Given the description of an element on the screen output the (x, y) to click on. 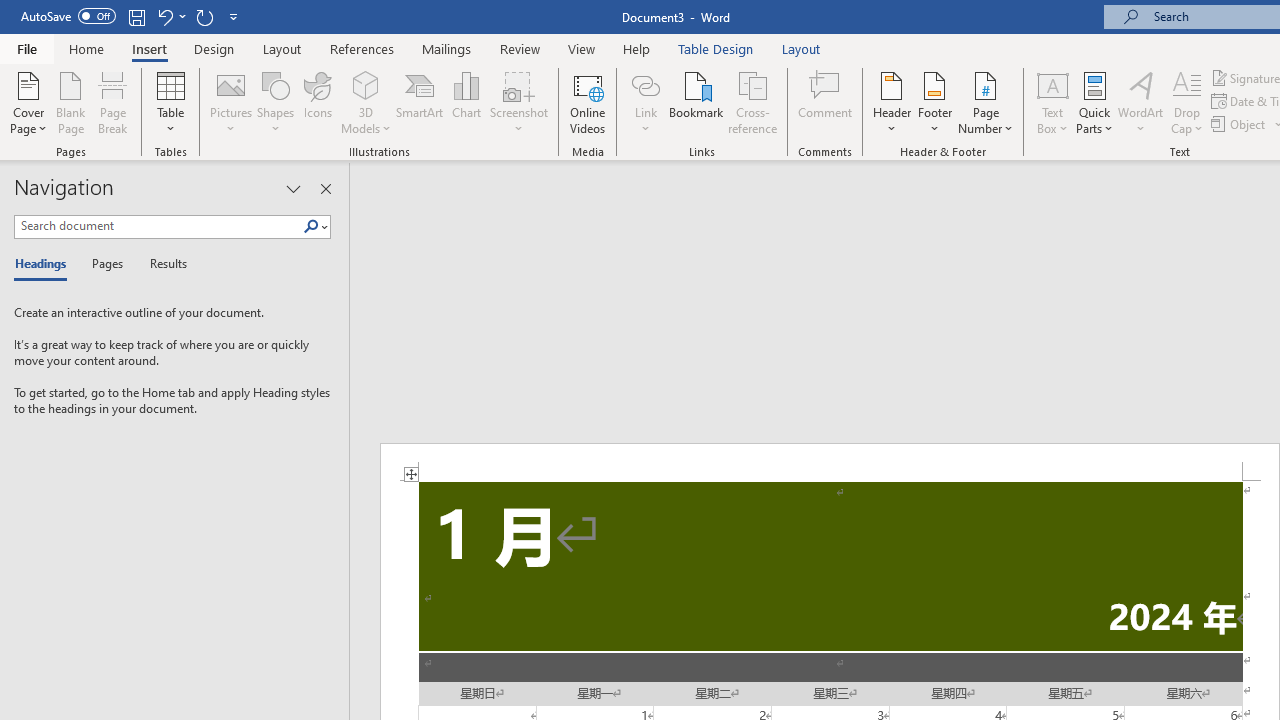
Cross-reference... (752, 102)
Search (311, 227)
Help (637, 48)
Layout (801, 48)
Undo Increase Indent (164, 15)
3D Models (366, 84)
Undo Increase Indent (170, 15)
Chart... (466, 102)
More Options (645, 121)
Quick Parts (1094, 102)
Bookmark... (695, 102)
Save (136, 15)
Link (645, 102)
Page Break (113, 102)
